Given the description of an element on the screen output the (x, y) to click on. 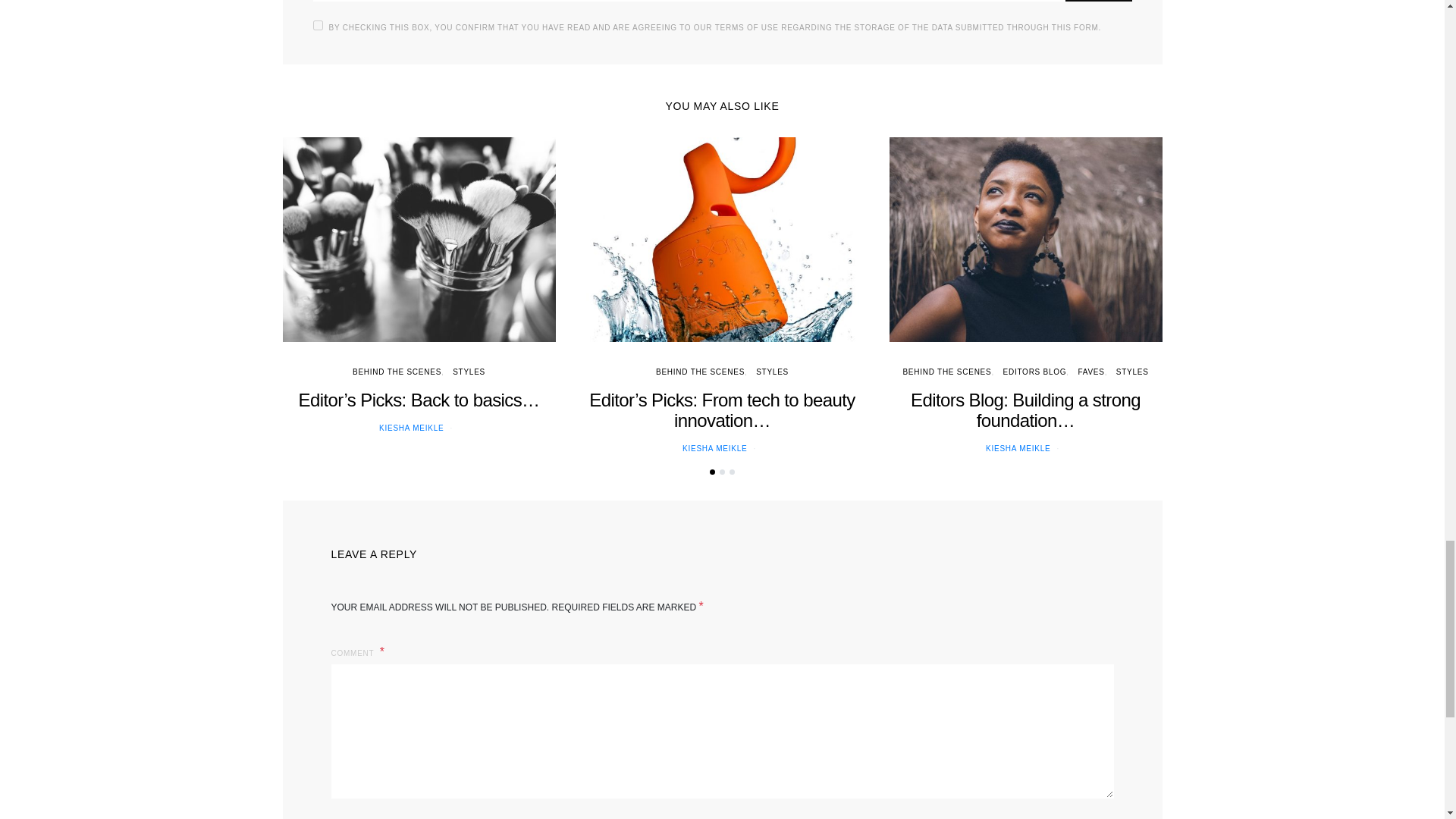
View all posts by Kiesha Meikle (411, 428)
on (317, 25)
View all posts by Kiesha Meikle (1017, 448)
View all posts by Kiesha Meikle (714, 448)
